Given the description of an element on the screen output the (x, y) to click on. 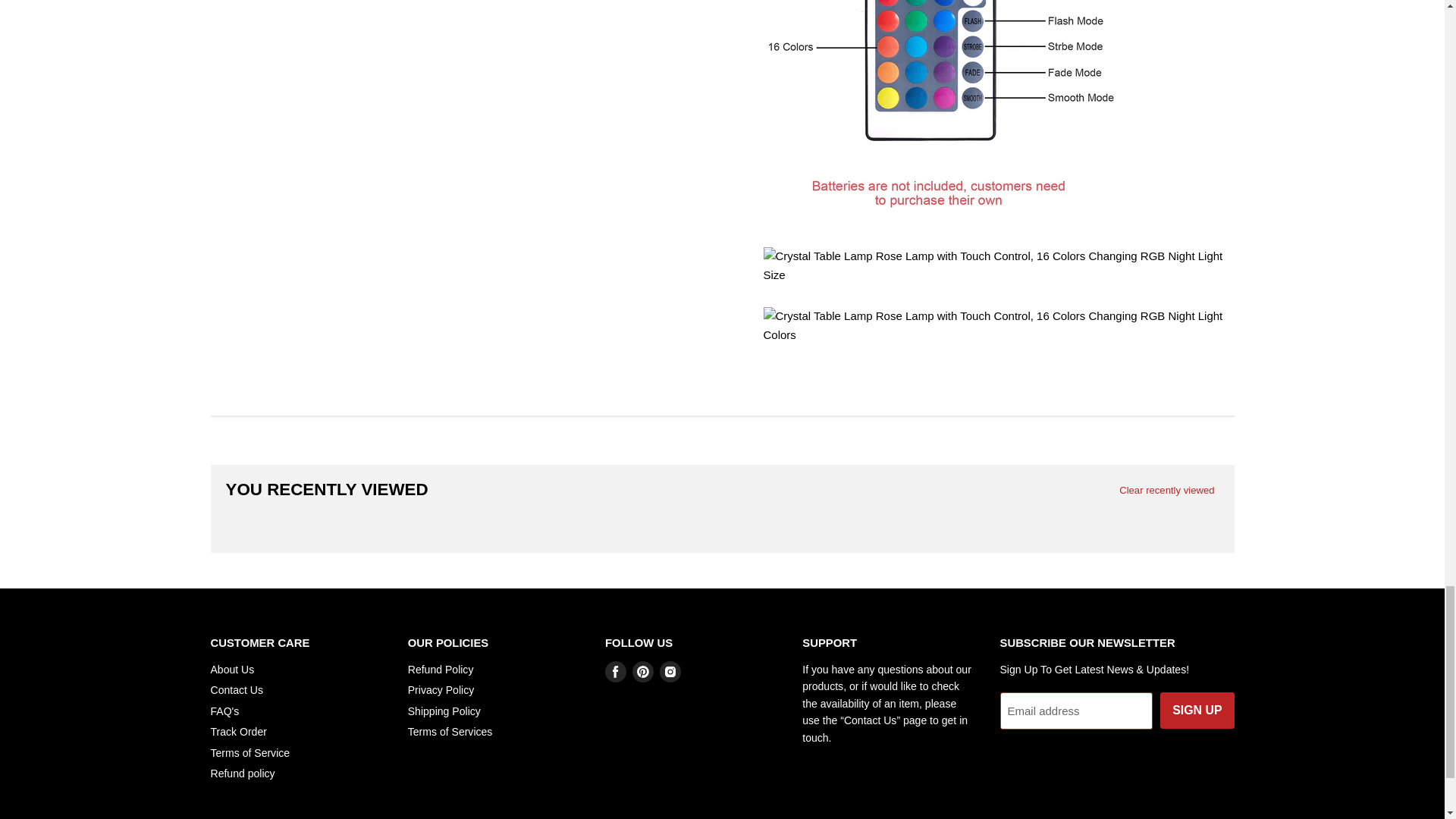
Instagram (670, 671)
Pinterest (642, 671)
Facebook (615, 671)
